Given the description of an element on the screen output the (x, y) to click on. 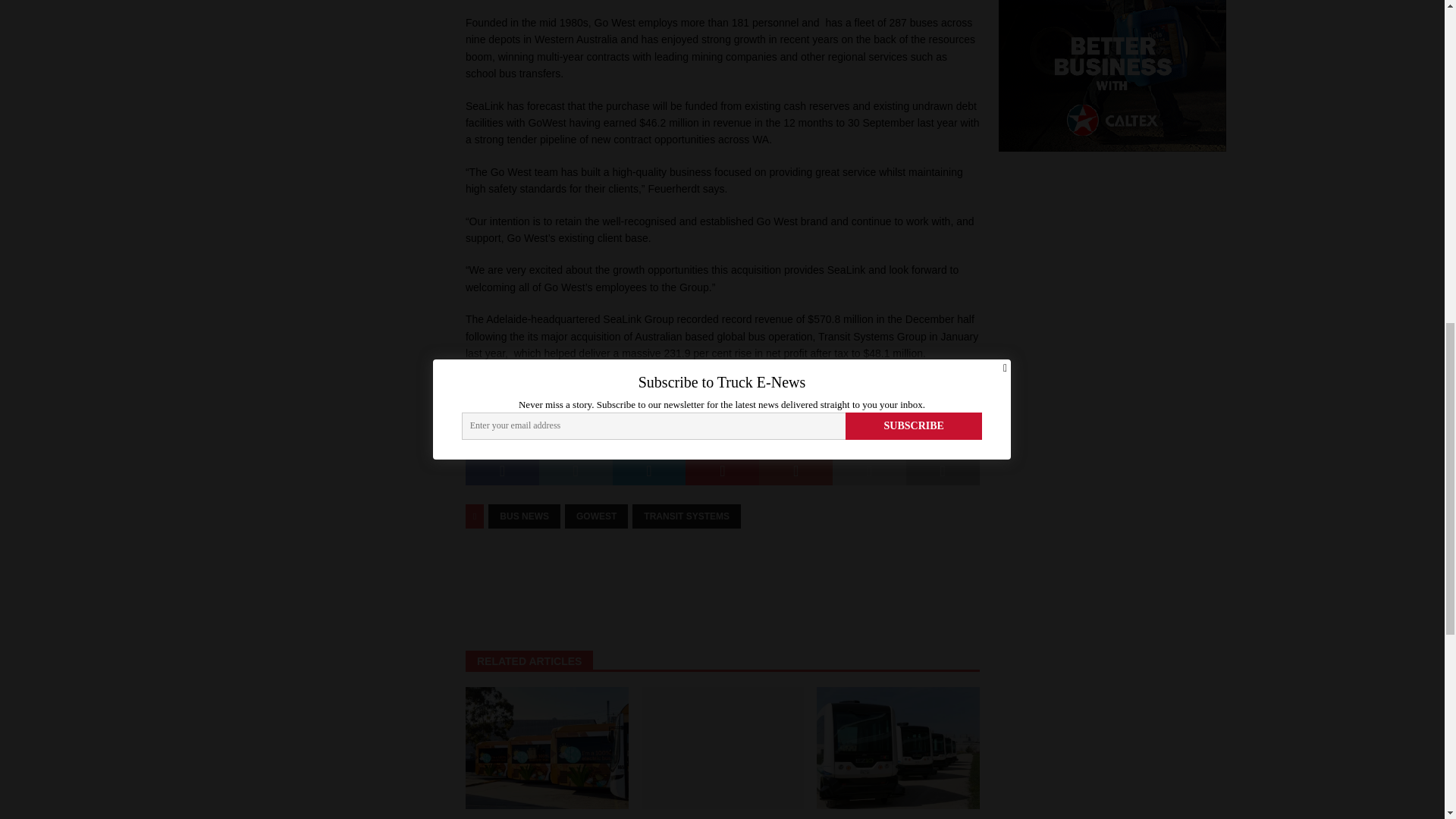
BUS NEWS (523, 516)
GOWEST (595, 516)
NT ANNOUNCES AUTONOMOUS BUS TRIALS (875, 818)
TRANSIT SYSTEMS (686, 516)
NT ANNOUNCES AUTONOMOUS BUS TRIALS (897, 748)
